Given the description of an element on the screen output the (x, y) to click on. 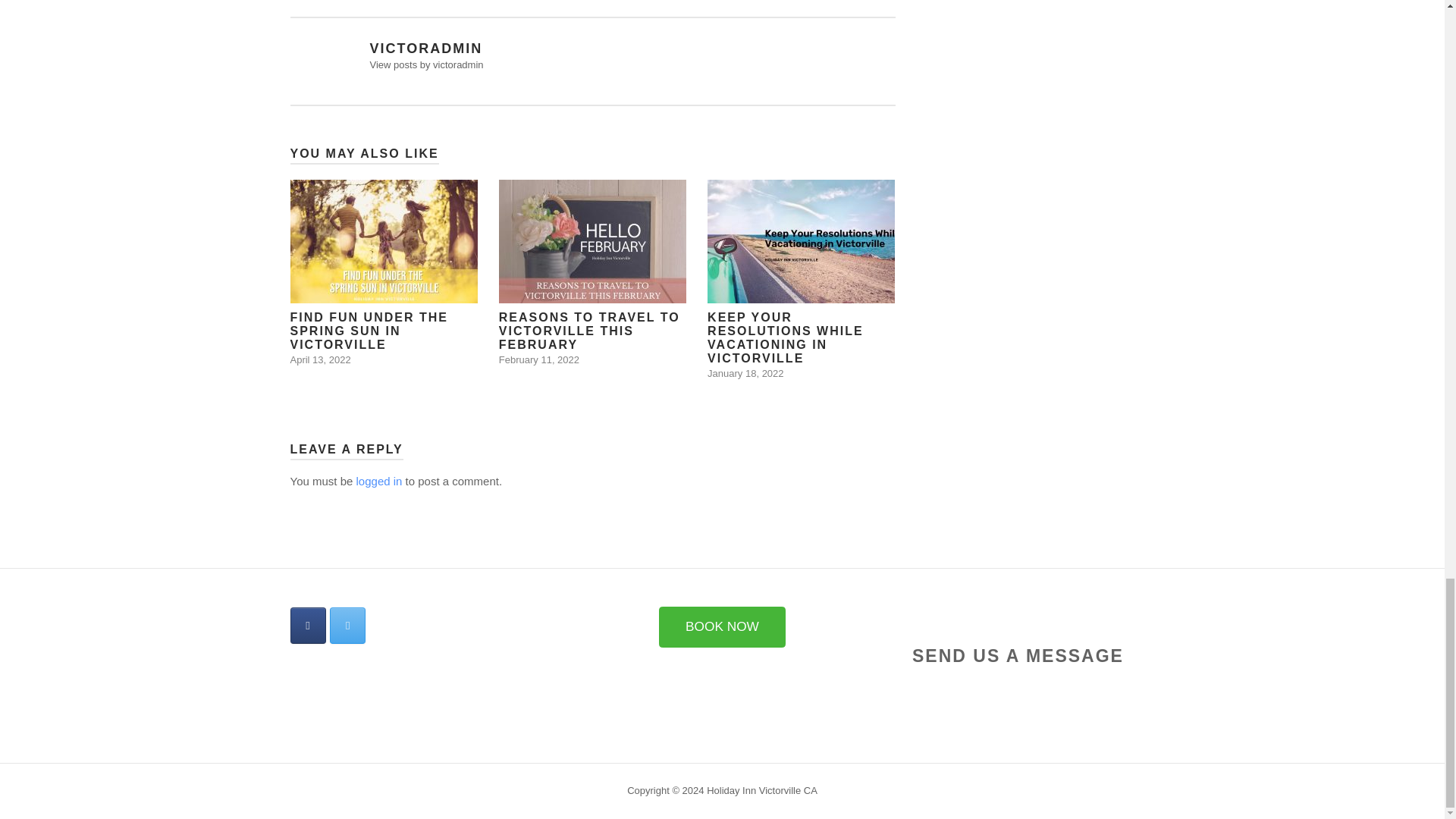
Holiday Inn Victorville CA on X Twitter (347, 625)
Keep Your Resolutions While Vacationing in Victorville (801, 279)
Reasons to Travel to Victorville This February (592, 272)
logged in (379, 481)
View posts by victoradmin (383, 272)
Find Fun Under the Spring Sun in Victorville (426, 64)
Holiday Inn Victorville CA on Facebook (383, 272)
